Given the description of an element on the screen output the (x, y) to click on. 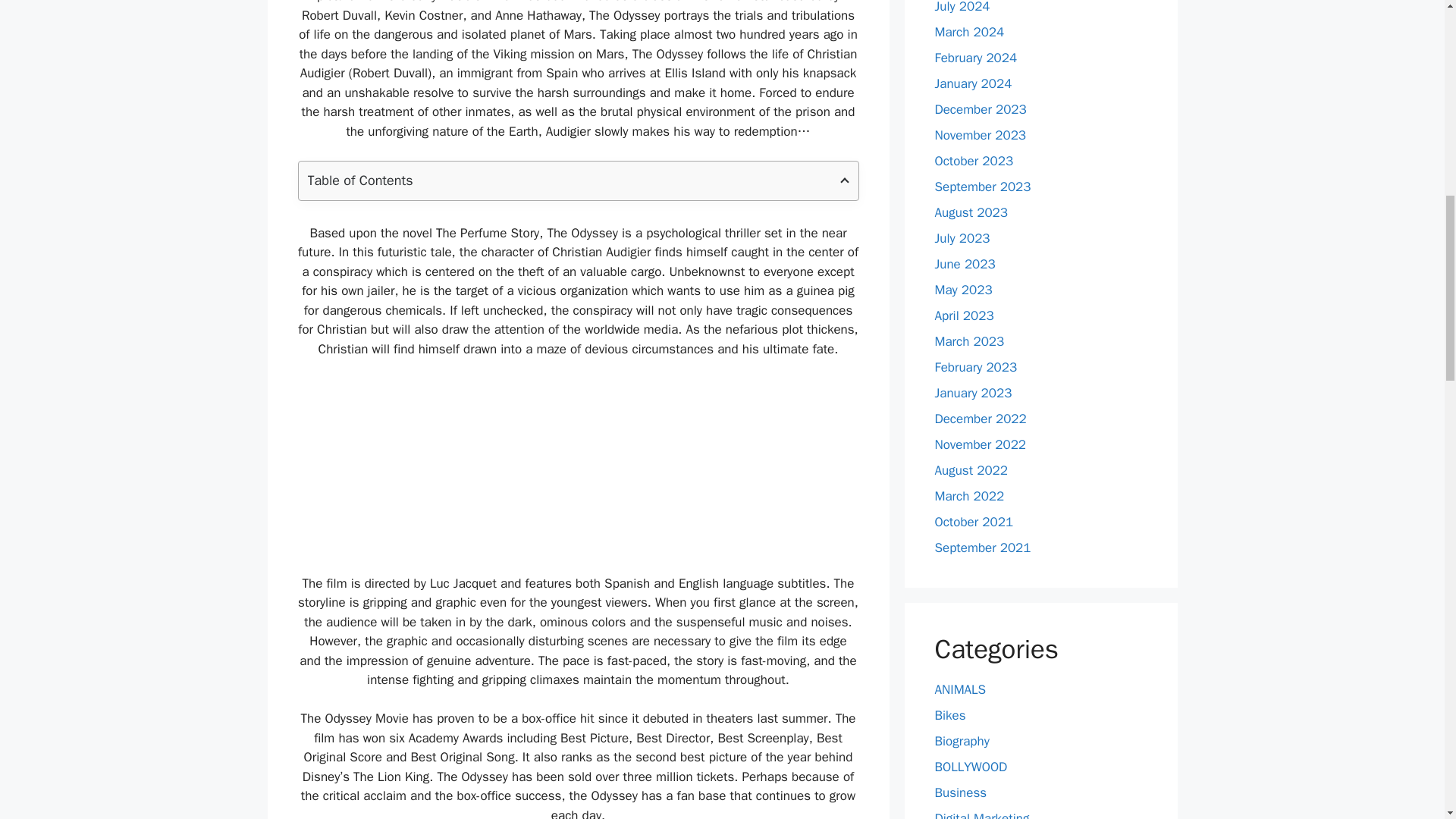
November 2023 (980, 135)
August 2023 (970, 212)
February 2023 (975, 367)
December 2023 (980, 109)
October 2023 (973, 160)
December 2022 (980, 418)
July 2023 (962, 238)
January 2023 (972, 392)
March 2023 (969, 341)
March 2024 (969, 32)
September 2023 (982, 186)
May 2023 (962, 289)
June 2023 (964, 263)
July 2024 (962, 7)
April 2023 (963, 315)
